Given the description of an element on the screen output the (x, y) to click on. 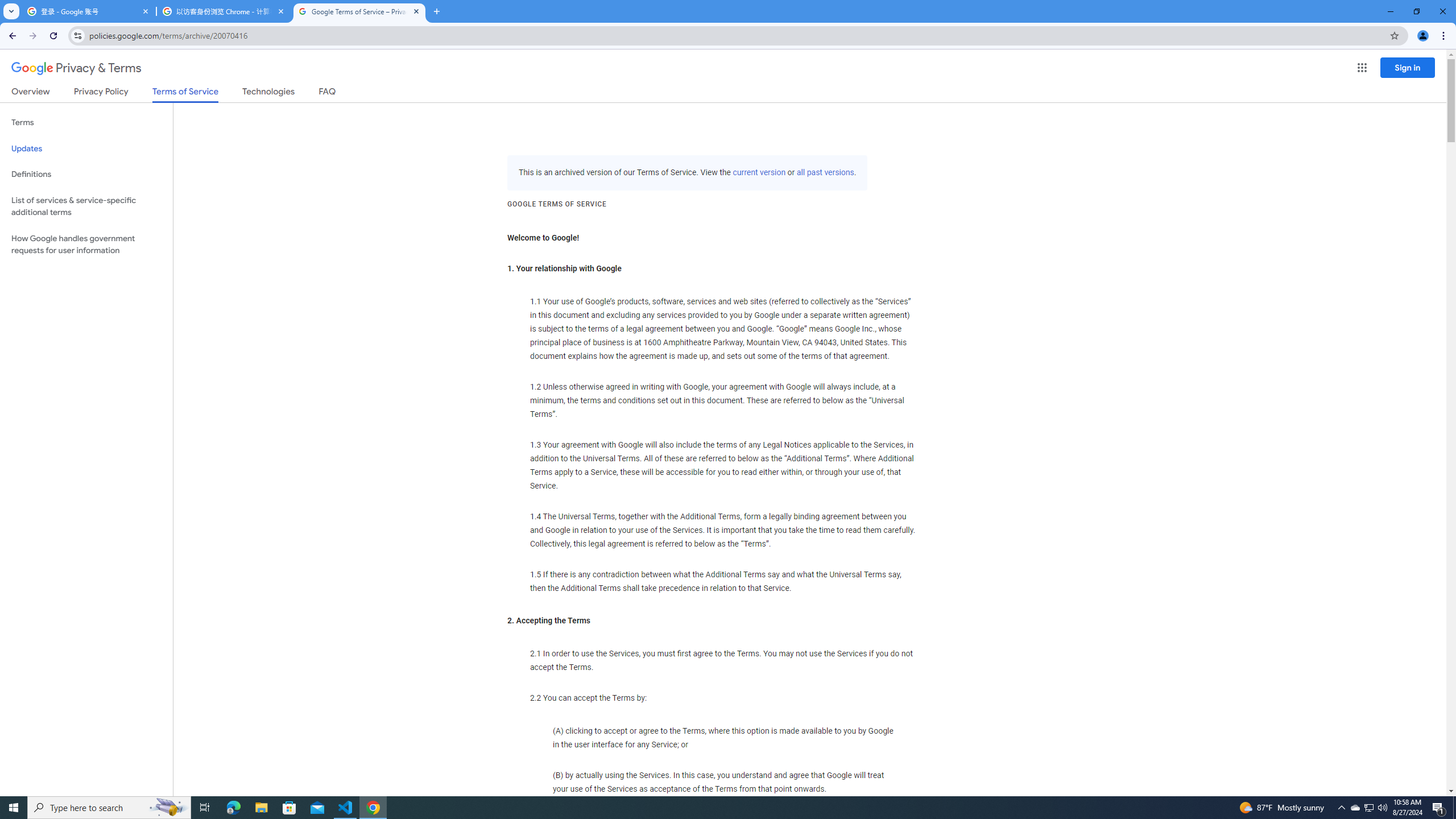
How Google handles government requests for user information (86, 244)
Definitions (86, 174)
